Given the description of an element on the screen output the (x, y) to click on. 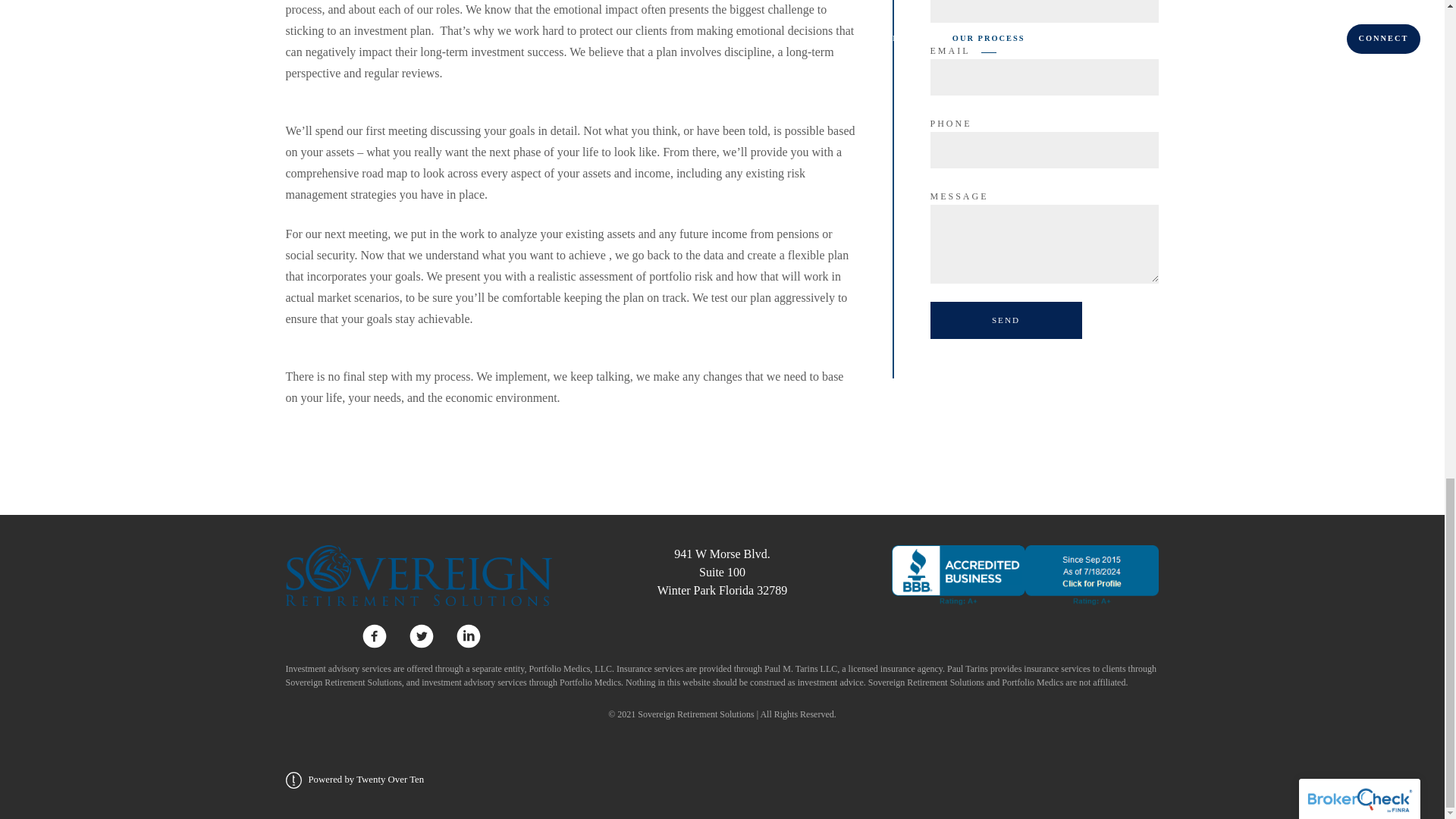
SEND (722, 572)
Powered by Twenty Over Ten (1005, 320)
